Given the description of an element on the screen output the (x, y) to click on. 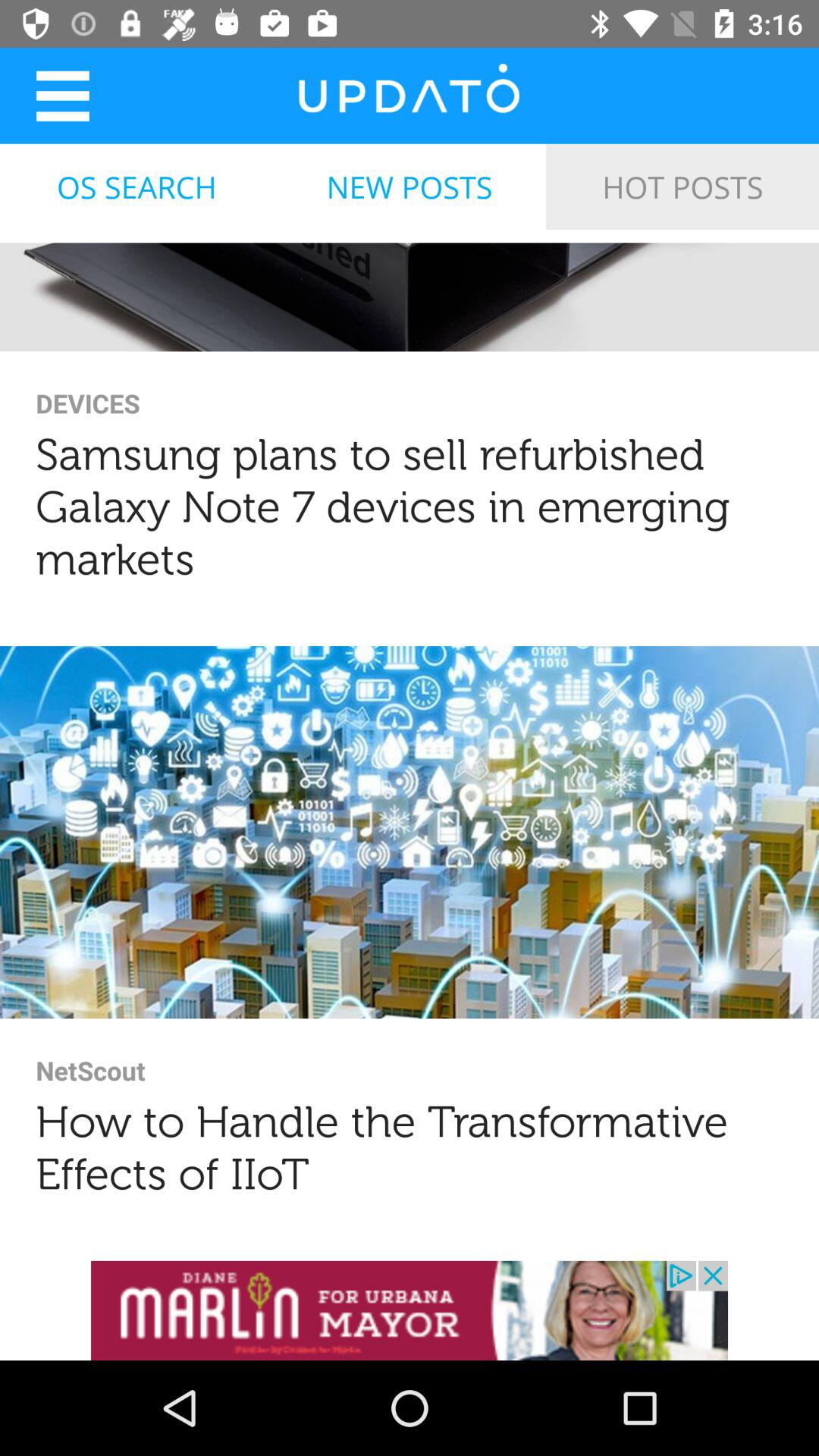
option menu dropdown (62, 95)
